Given the description of an element on the screen output the (x, y) to click on. 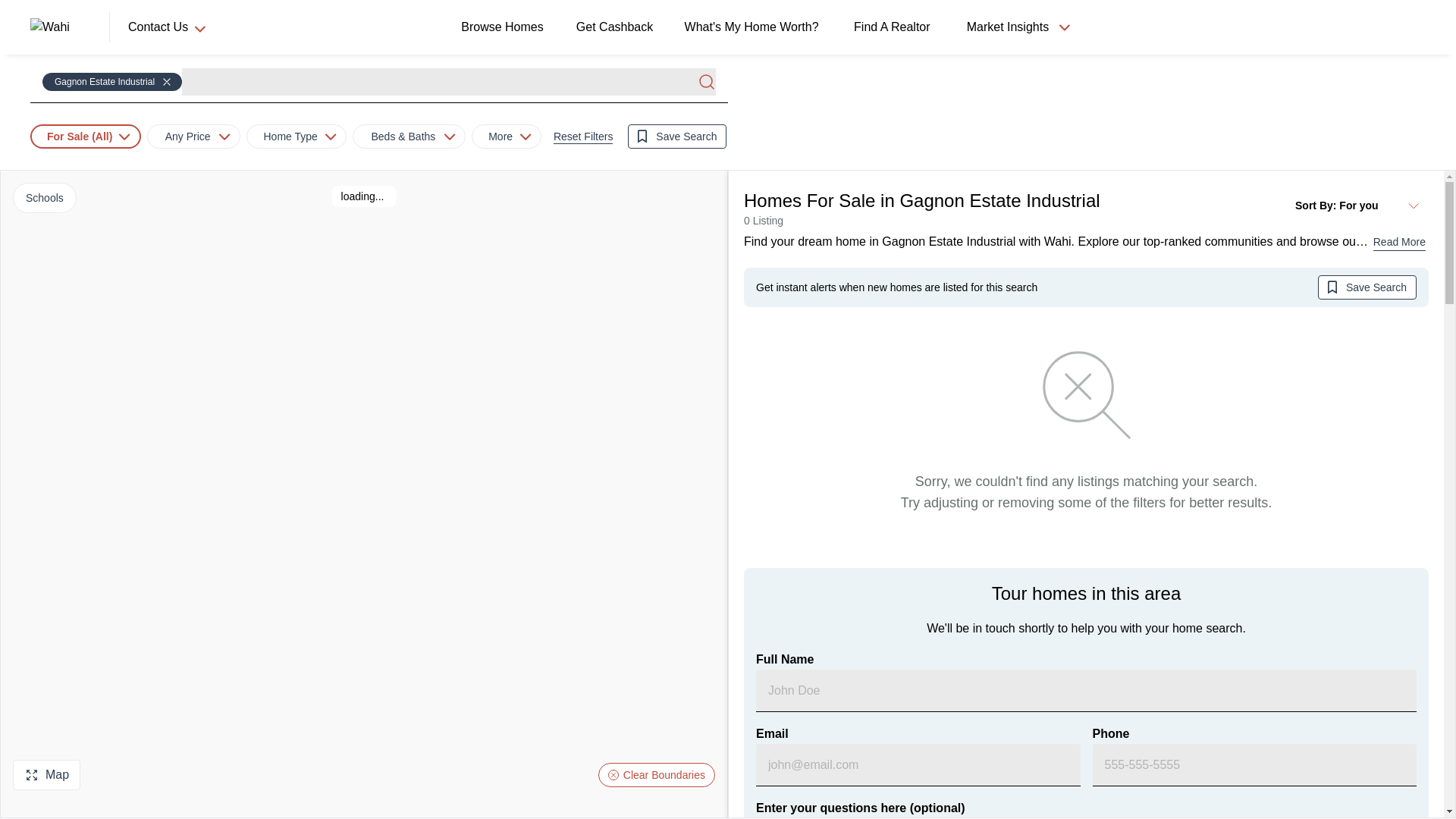
Any Price (193, 136)
Any Price (187, 136)
Find A Realtor (894, 26)
Find A Realtor (894, 27)
Browse Homes (504, 27)
Market Insights (1006, 26)
More (499, 136)
Market Insights (1016, 27)
Home Type (296, 136)
What's My Home Worth? (755, 26)
Get Cashback (617, 26)
Browse Homes (504, 26)
What's My Home Worth? (756, 27)
Home Type (290, 136)
Get Cashback (617, 27)
